Given the description of an element on the screen output the (x, y) to click on. 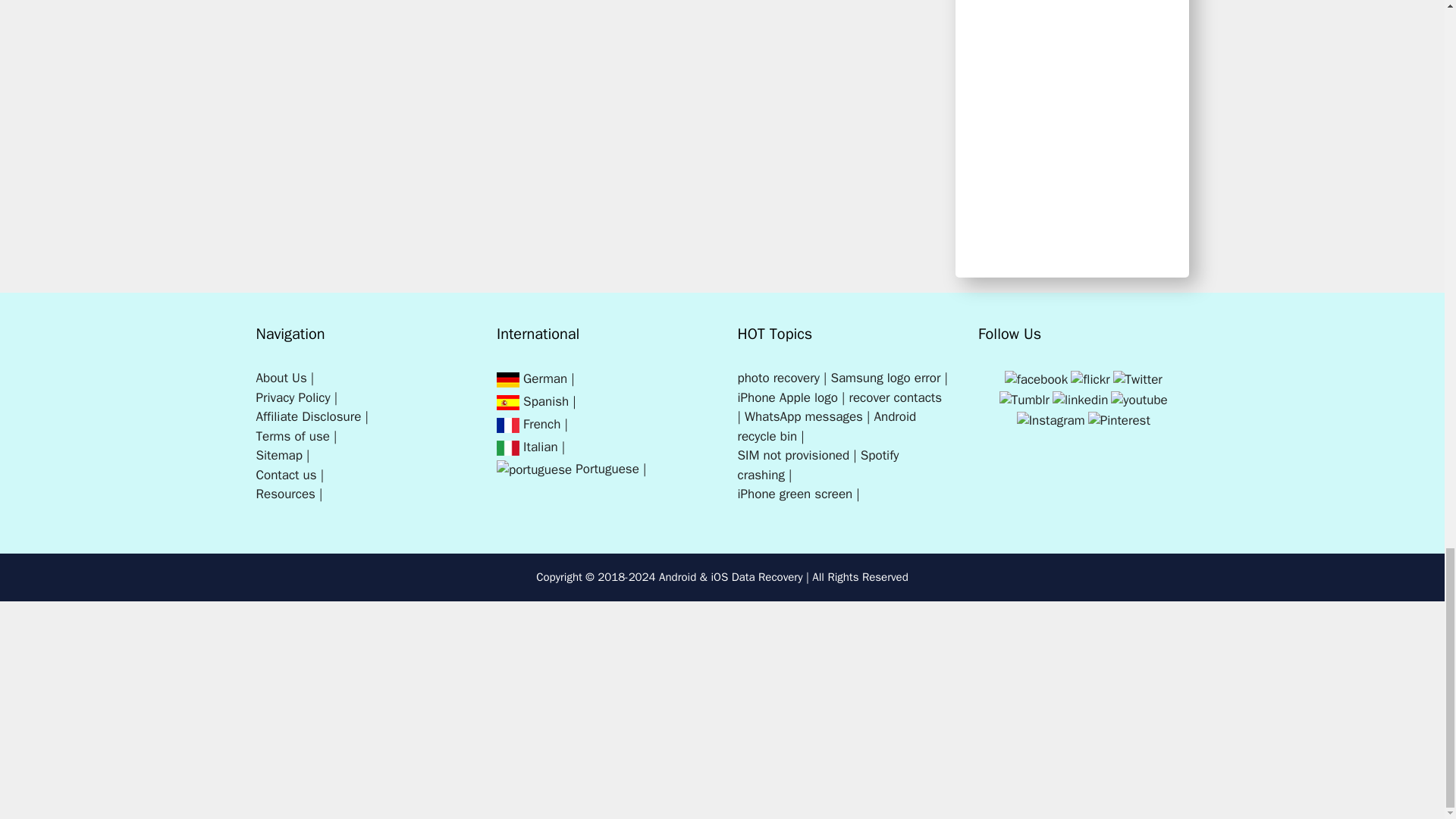
flickr (1089, 379)
facebook (1036, 378)
facebook (1036, 379)
Tumblr (1023, 399)
flickr (1089, 378)
Twitter (1137, 378)
Twitter (1137, 379)
Tumblr (1024, 399)
